Given the description of an element on the screen output the (x, y) to click on. 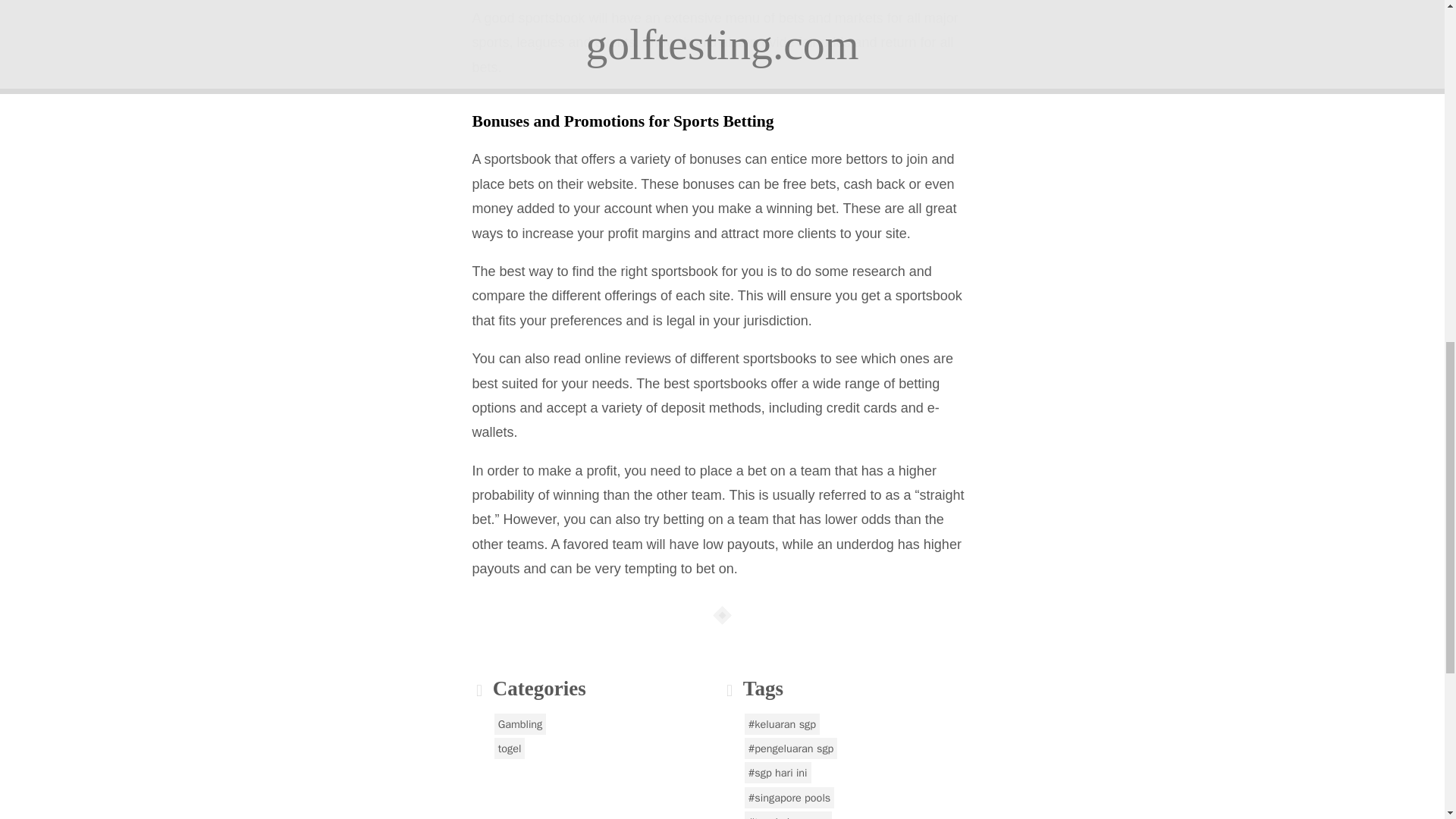
togel (510, 748)
keluaran sgp (781, 723)
togel singapore (787, 815)
sgp hari ini (777, 772)
pengeluaran sgp (791, 748)
singapore pools (789, 797)
Gambling (521, 723)
